Given the description of an element on the screen output the (x, y) to click on. 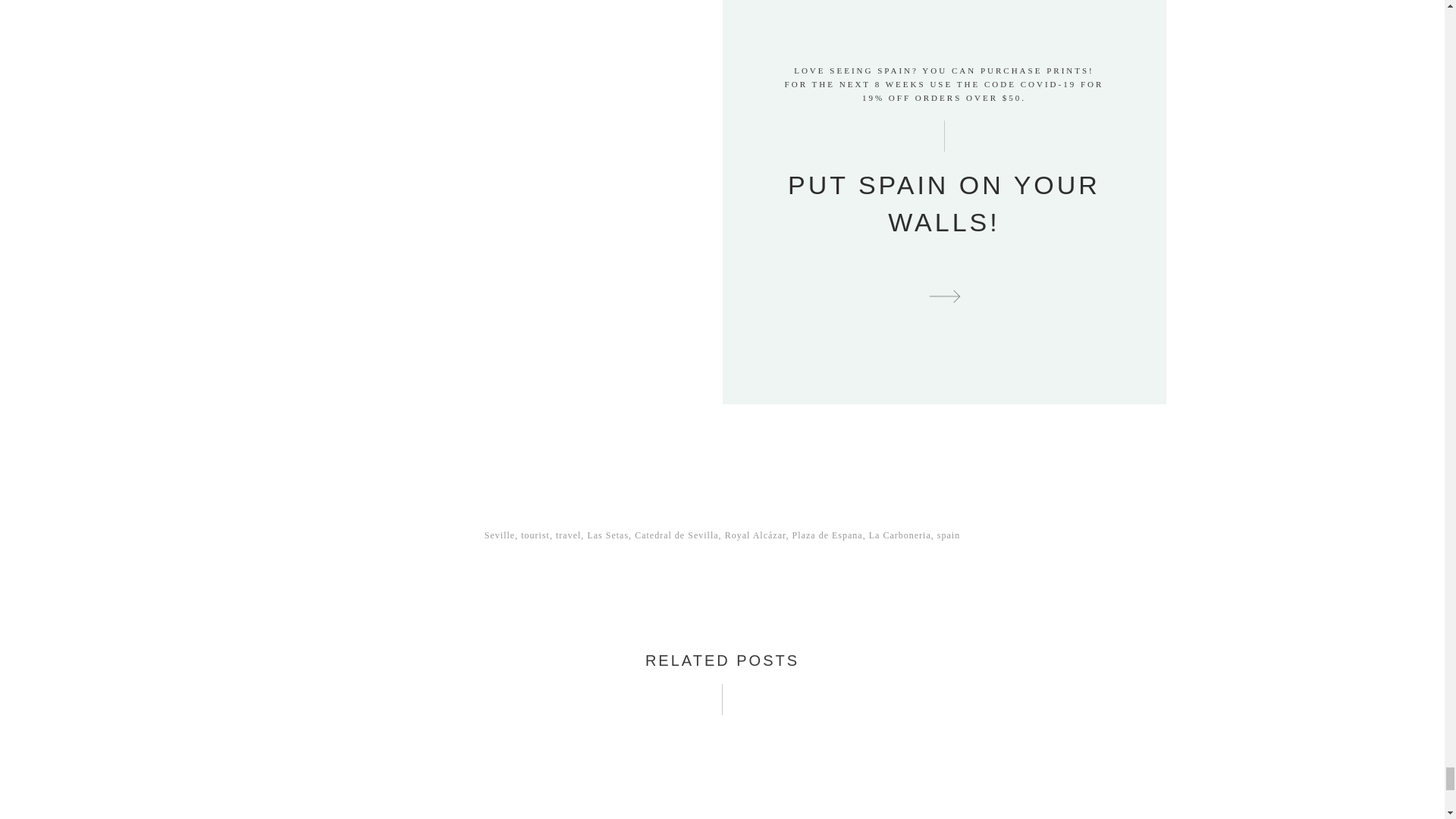
Catedral de Sevilla (675, 534)
spain (948, 534)
travel (568, 534)
tourist (535, 534)
Seville (499, 534)
Las Setas (607, 534)
Plaza de Espana (827, 534)
La Carboneria (900, 534)
